Given the description of an element on the screen output the (x, y) to click on. 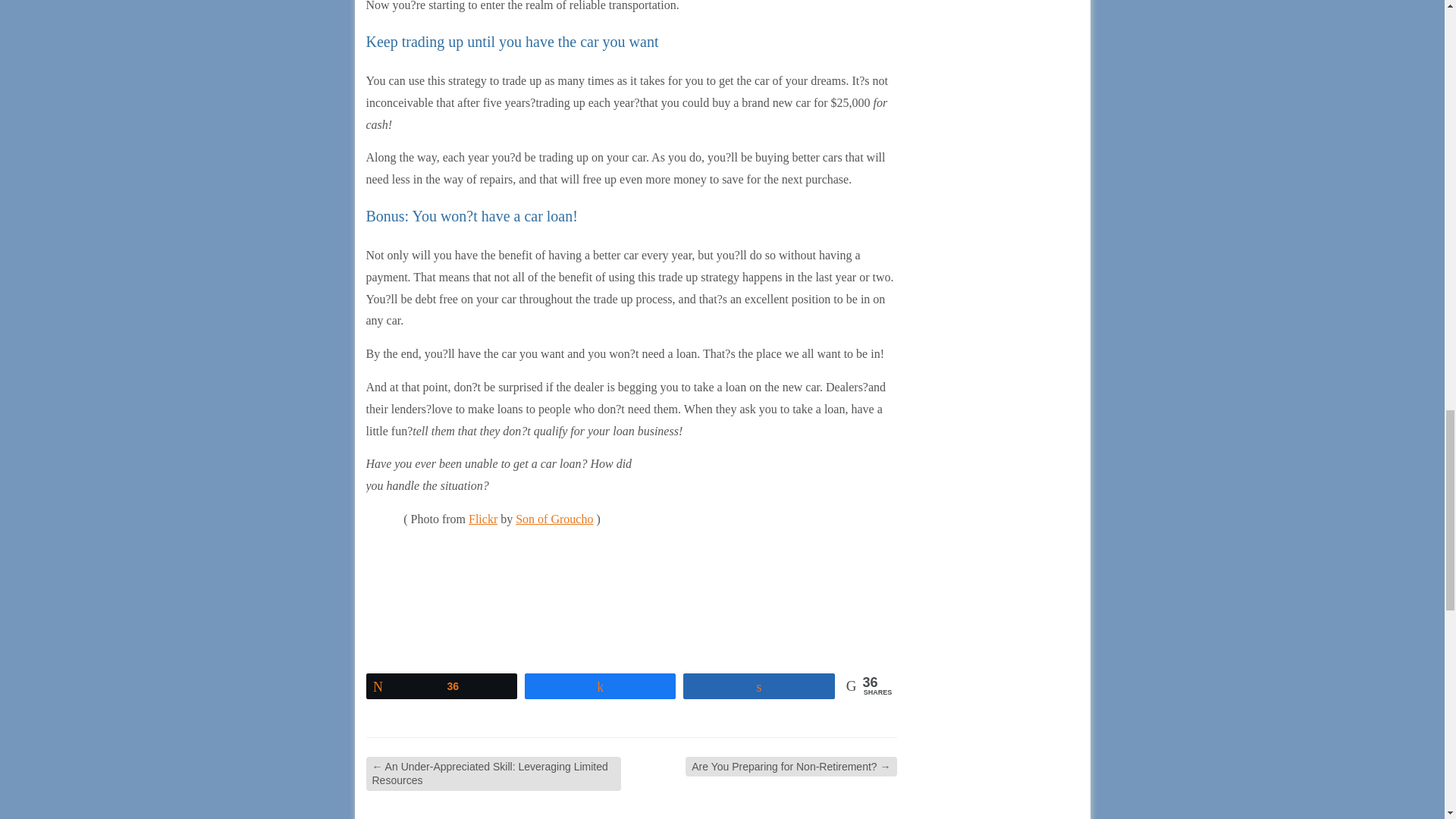
Flickr (482, 518)
Son of Groucho (553, 518)
36 (441, 685)
